Given the description of an element on the screen output the (x, y) to click on. 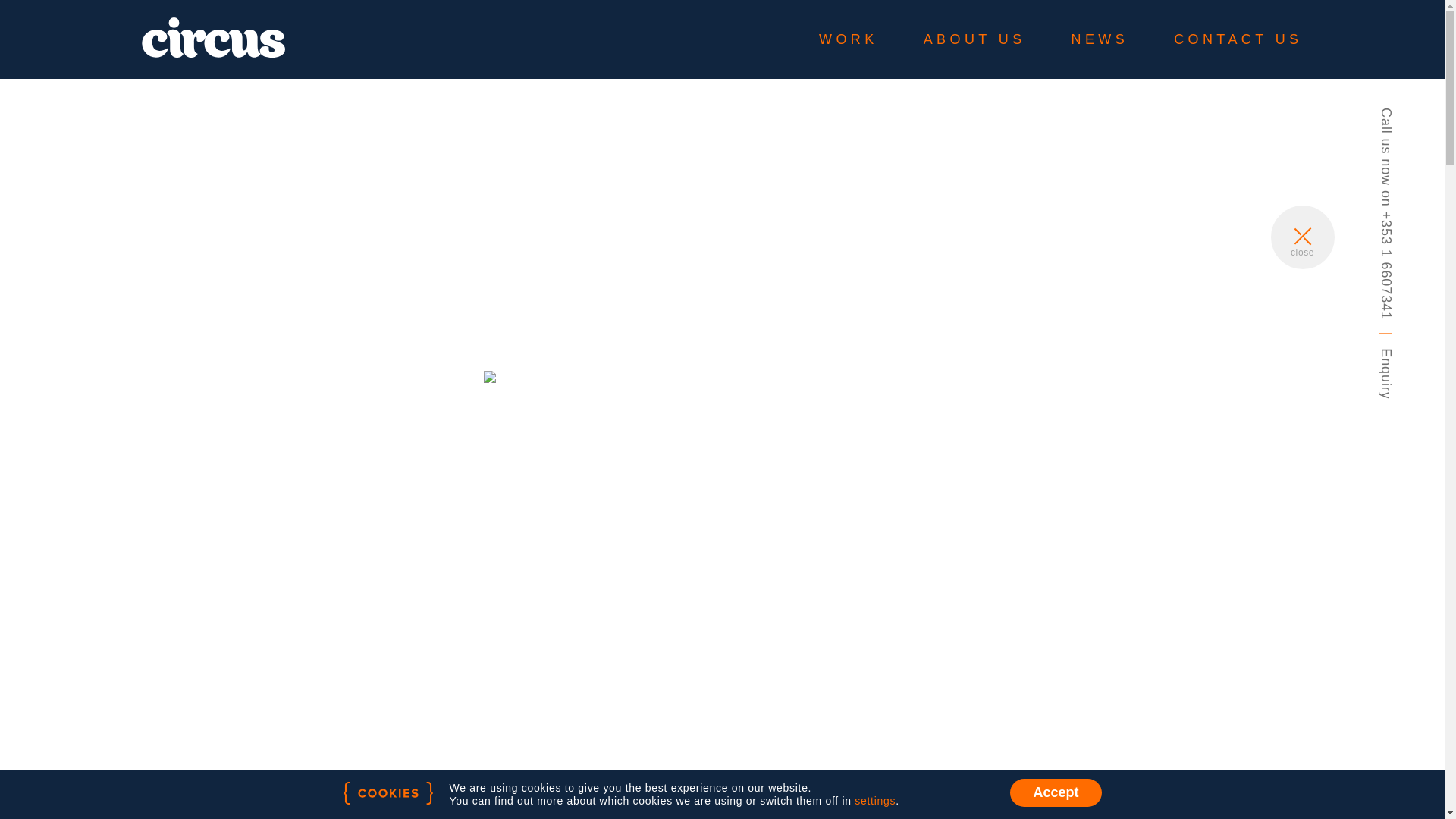
CONTACT US (1237, 38)
See the live site (489, 627)
Enquiry (1403, 355)
settings (874, 800)
ABOUT US (974, 38)
NEWS (1100, 38)
WORK (847, 38)
close (1302, 237)
